Given the description of an element on the screen output the (x, y) to click on. 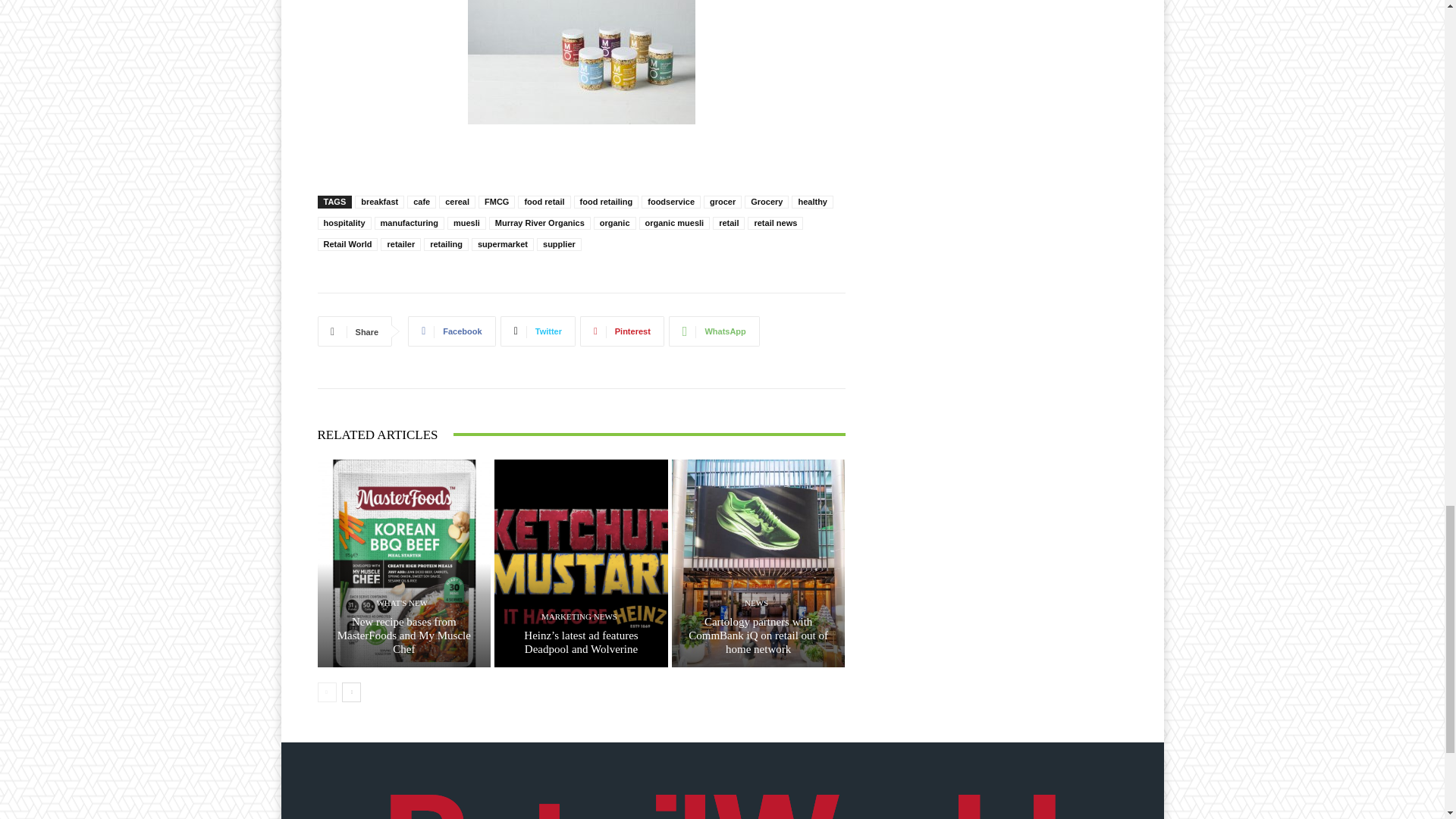
Facebook (451, 331)
Twitter (537, 331)
